Given the description of an element on the screen output the (x, y) to click on. 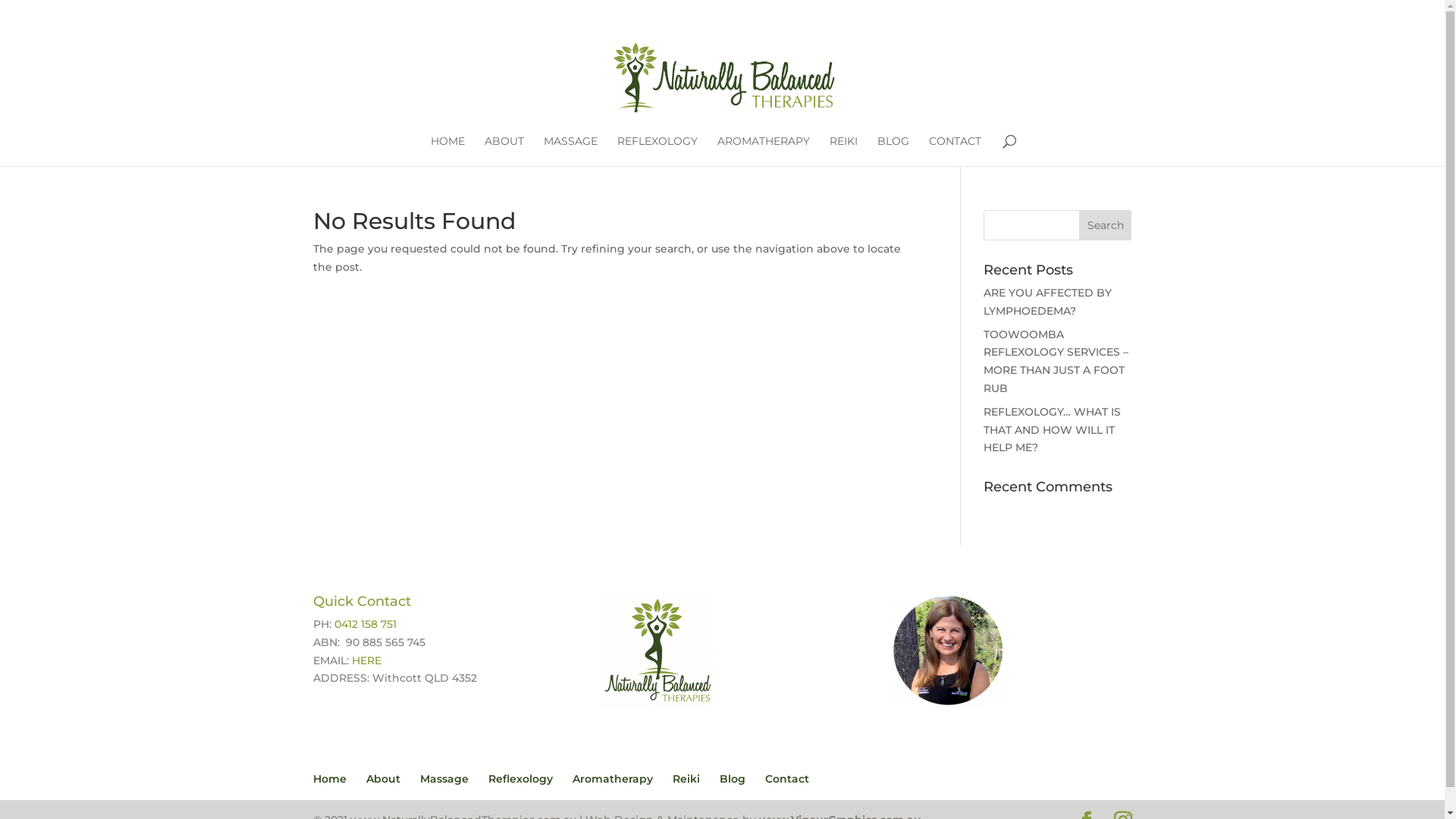
MASSAGE Element type: text (569, 150)
REFLEXOLOGY Element type: text (657, 150)
Aromatherapy Element type: text (611, 778)
CONTACT Element type: text (954, 150)
ABOUT Element type: text (503, 150)
AROMATHERAPY Element type: text (763, 150)
Massage Element type: text (444, 778)
ARE YOU AFFECTED BY LYMPHOEDEMA? Element type: text (1047, 301)
Reiki Element type: text (685, 778)
HOME Element type: text (447, 150)
Home Element type: text (328, 778)
About Element type: text (382, 778)
REIKI Element type: text (843, 150)
HERE Element type: text (366, 660)
Contact Element type: text (786, 778)
Blog Element type: text (731, 778)
Reflexology Element type: text (520, 778)
diane@naturallybalancedtherapies.com.au Element type: text (489, 11)
BLOG Element type: text (892, 150)
Search Element type: text (1105, 225)
0412 158 751 Element type: text (364, 623)
